Given the description of an element on the screen output the (x, y) to click on. 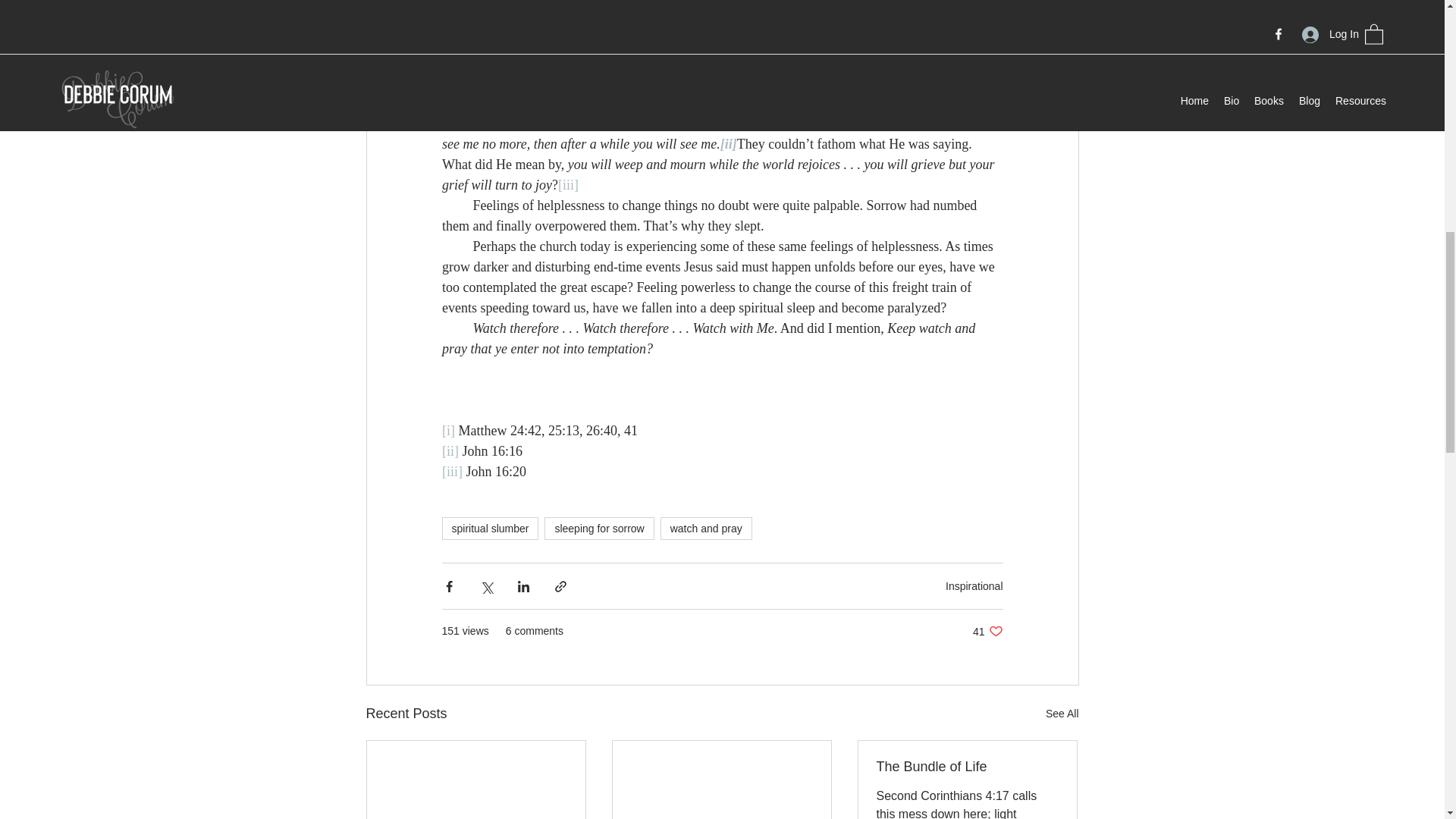
The Bundle of Life (967, 766)
sleeping for sorrow (598, 527)
watch and pray (706, 527)
spiritual slumber (489, 527)
Inspirational (973, 585)
See All (1061, 713)
